Given the description of an element on the screen output the (x, y) to click on. 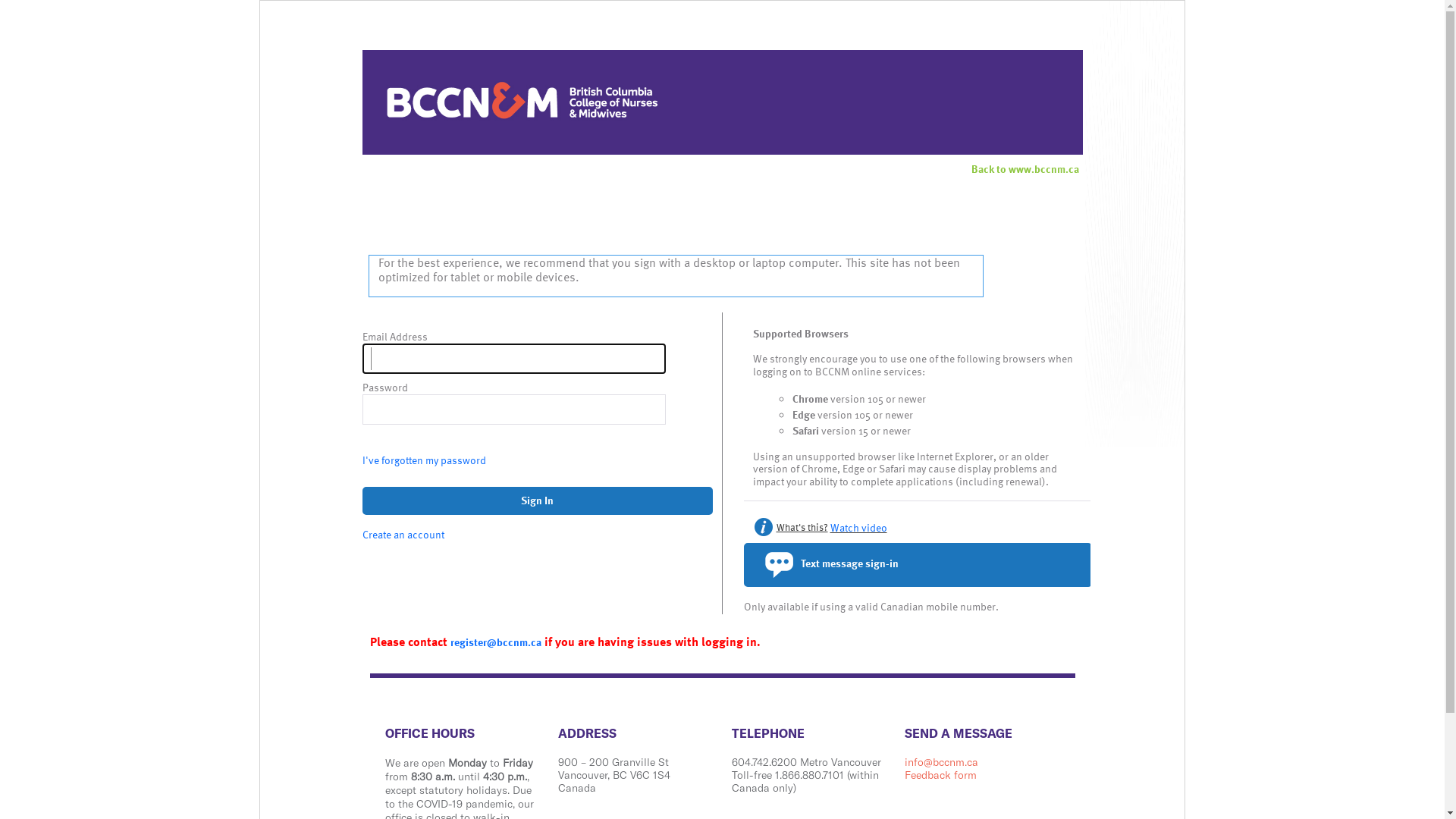
Create an account Element type: text (403, 534)
Feedback form Element type: text (940, 774)
info@bccnm.ca Element type: text (941, 761)
Watch video Element type: text (857, 527)
I've forgotten my password Element type: text (424, 459)
What's this? Watch video Element type: text (917, 526)
Back to www.bccnm.ca Element type: text (1024, 168)
register@bccnm.ca Element type: text (495, 641)
Text message sign-in Element type: text (917, 564)
Sign In Element type: text (537, 500)
